Given the description of an element on the screen output the (x, y) to click on. 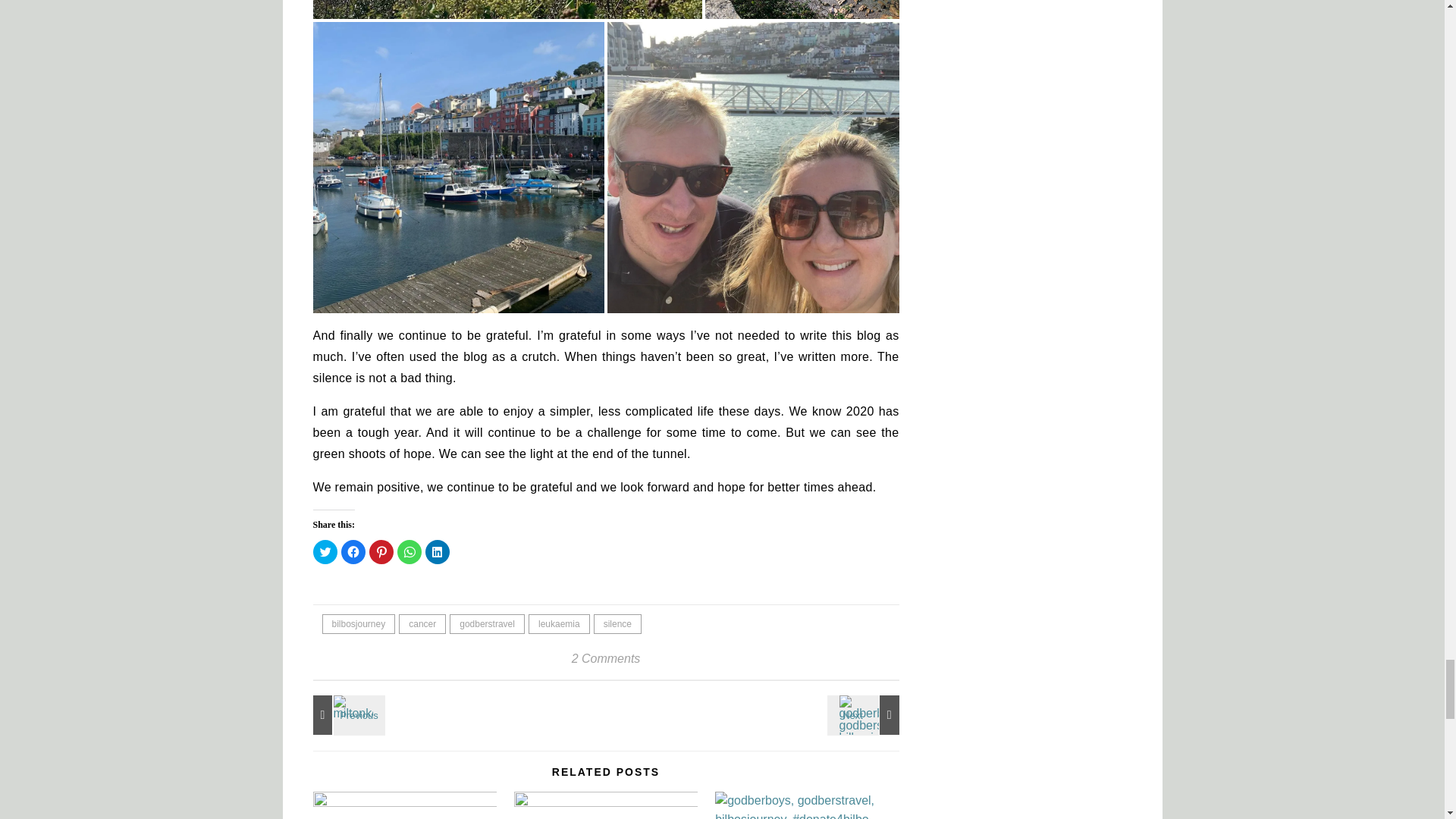
Day 617: The Halfway Point (865, 713)
Click to share on Facebook (352, 551)
Click to share on LinkedIn (436, 551)
Click to share on WhatsApp (409, 551)
Click to share on Twitter (324, 551)
Click to share on Pinterest (380, 551)
2015 the Year That Changed Me (346, 713)
